Given the description of an element on the screen output the (x, y) to click on. 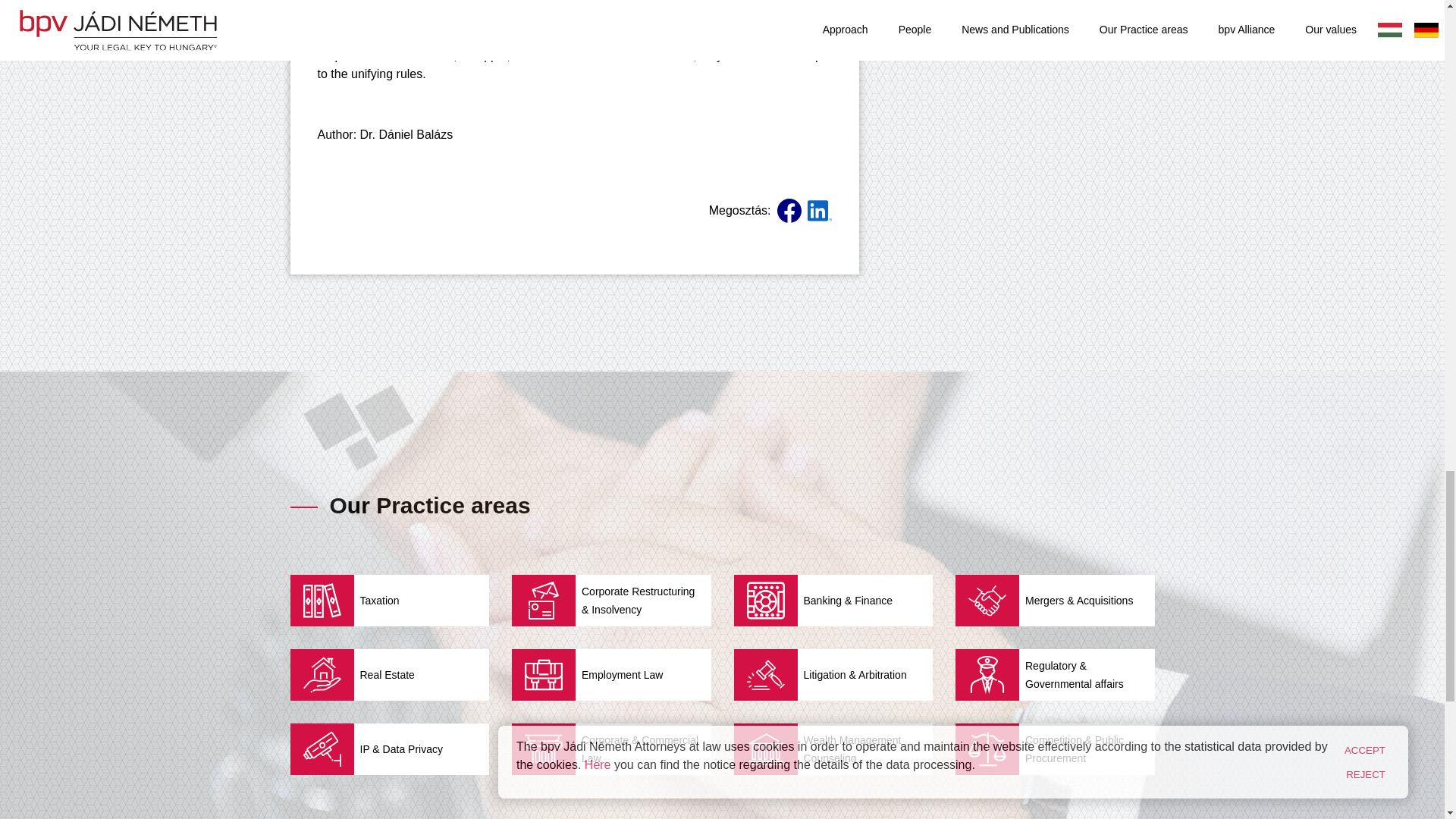
Real Estate (389, 675)
Wealth Management Counseling (833, 748)
Employment Law (611, 675)
Taxation (389, 600)
